Given the description of an element on the screen output the (x, y) to click on. 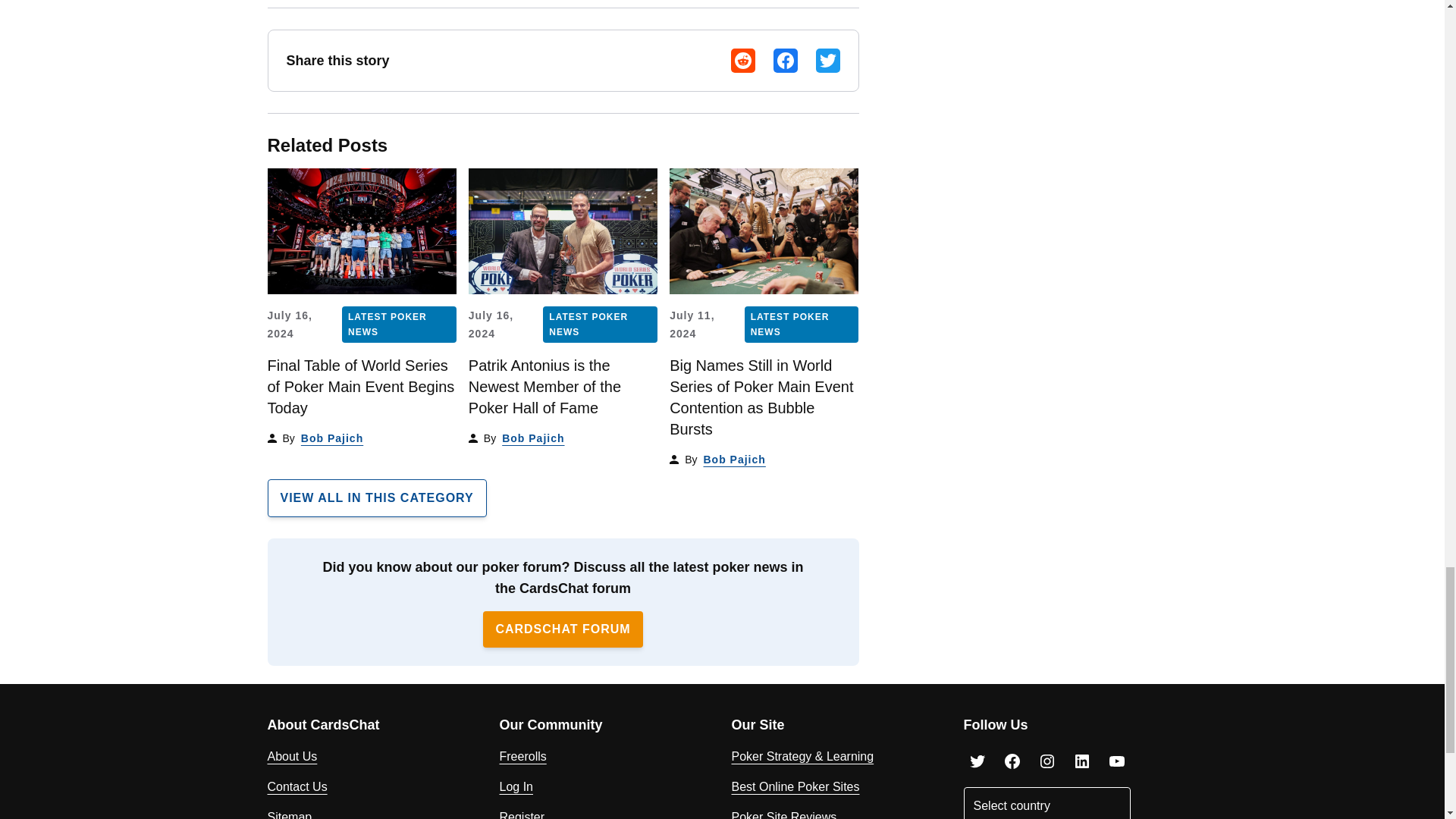
Share on Facebook (785, 60)
Share on Twitter (827, 60)
Share on Reddit (742, 60)
